Given the description of an element on the screen output the (x, y) to click on. 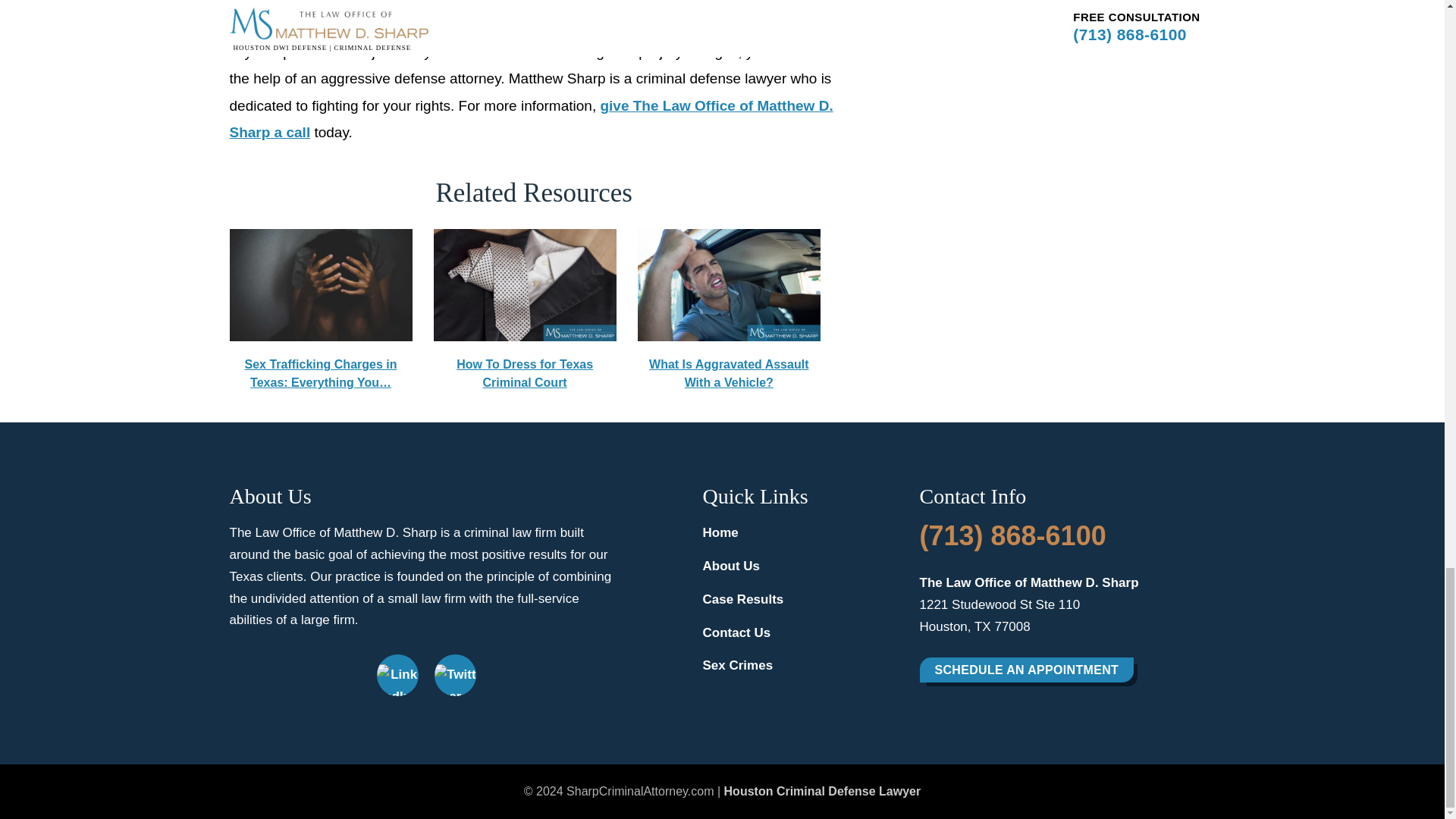
How To Dress for Texas Criminal Court (524, 285)
What Is Aggravated Assault With a Vehicle? (729, 310)
How To Dress for Texas Criminal Court (524, 310)
What Is Aggravated Assault With a Vehicle? (729, 285)
give The Law Office of Matthew D. Sharp a call (530, 118)
